Given the description of an element on the screen output the (x, y) to click on. 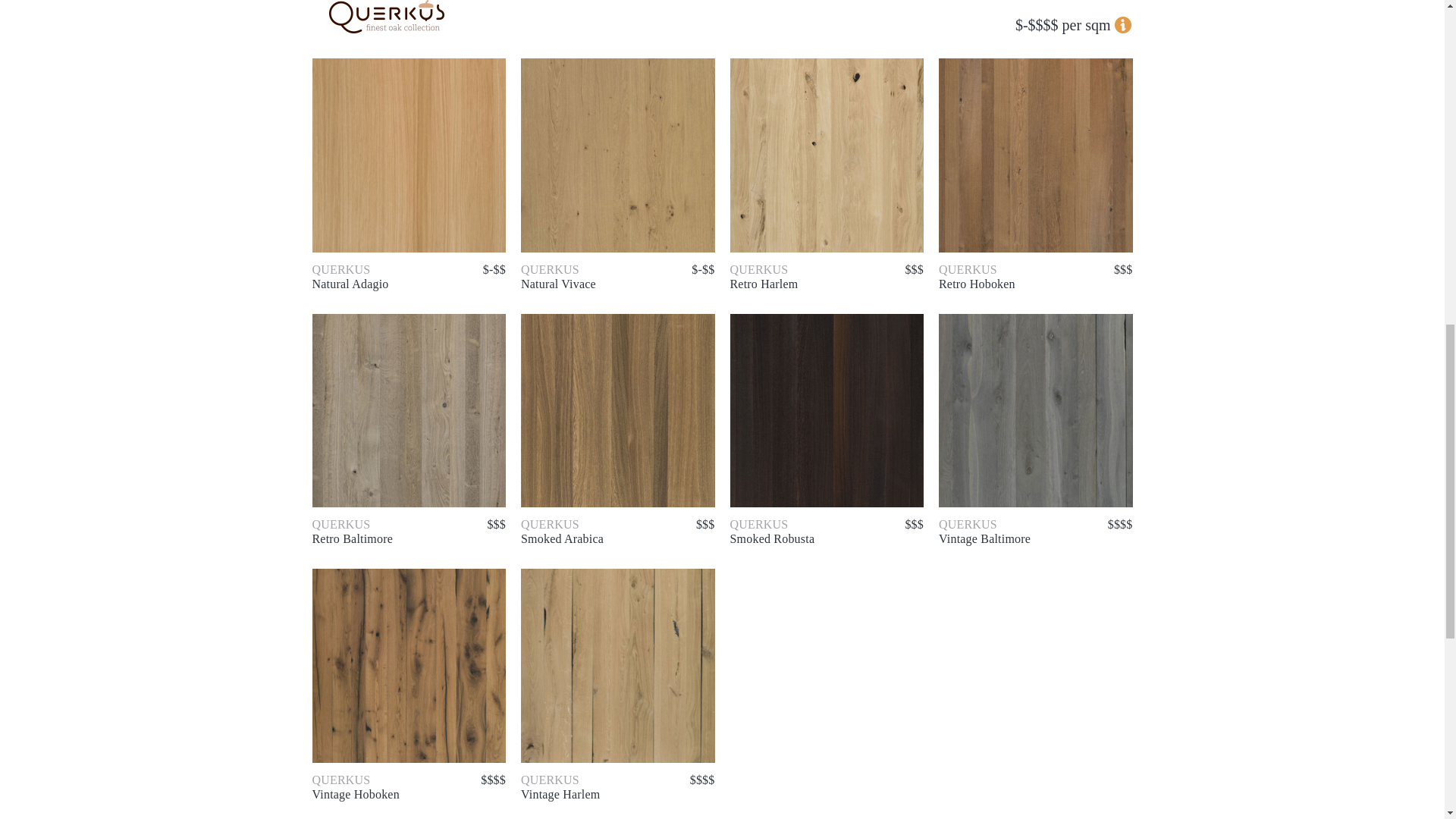
Smoked Robusta (826, 410)
Vintage Baltimore (1035, 410)
Natural Adagio (409, 155)
Natural Vivace (617, 155)
Retro Harlem (826, 155)
Smoked Arabica (617, 410)
Retro Hoboken (1035, 155)
Retro Baltimore (409, 410)
